Given the description of an element on the screen output the (x, y) to click on. 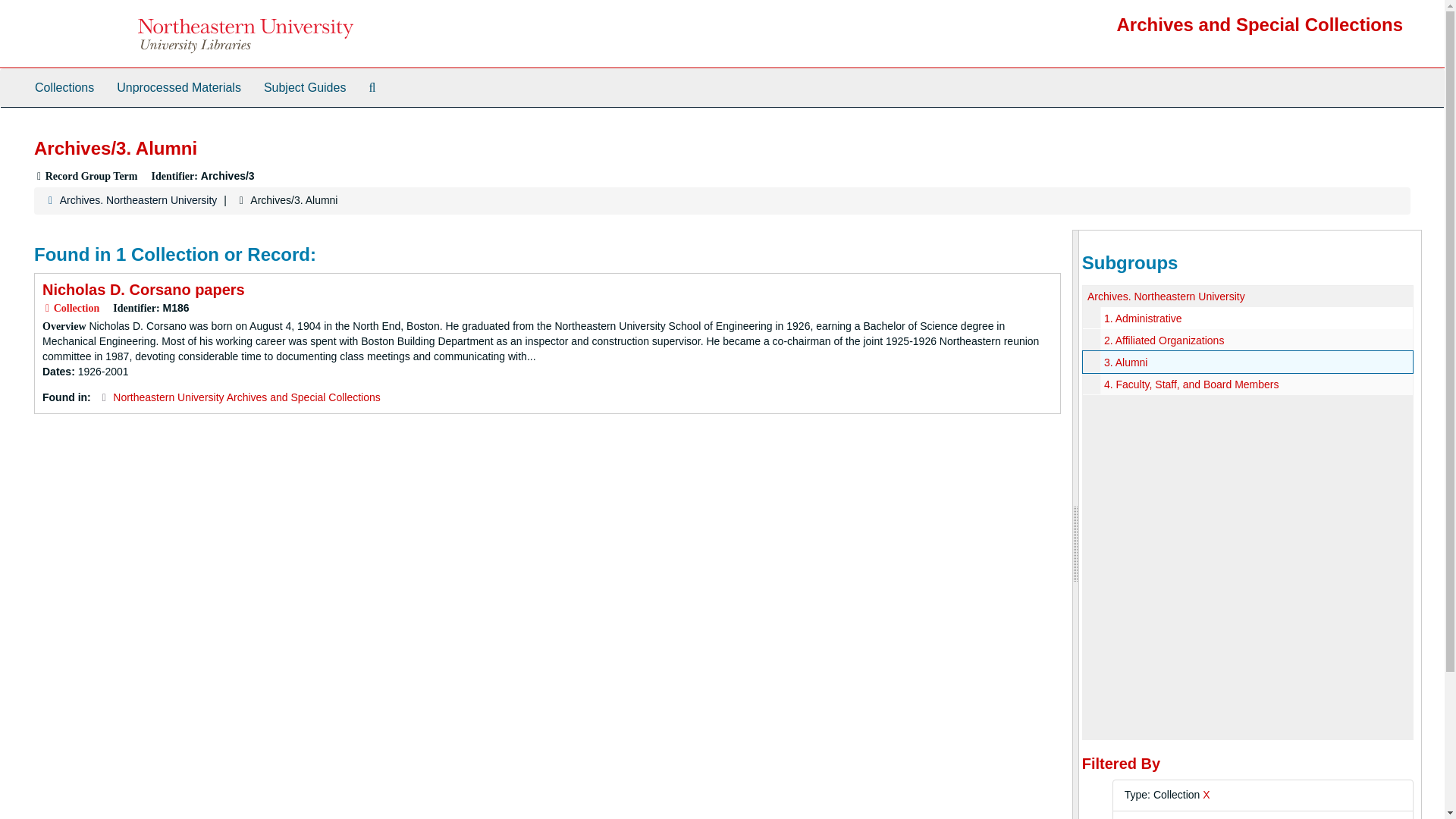
Nicholas D. Corsano papers (143, 289)
Affiliated Organizations (1247, 340)
Return to the Archives homepage (1259, 24)
4. Faculty, Staff, and Board Members (1191, 384)
Archives and Special Collections (1259, 24)
1. Administrative (1142, 318)
Unprocessed Materials (177, 87)
Archives. Northeastern University (1165, 296)
3. Alumni (1125, 362)
Subject Guides (304, 87)
